Given the description of an element on the screen output the (x, y) to click on. 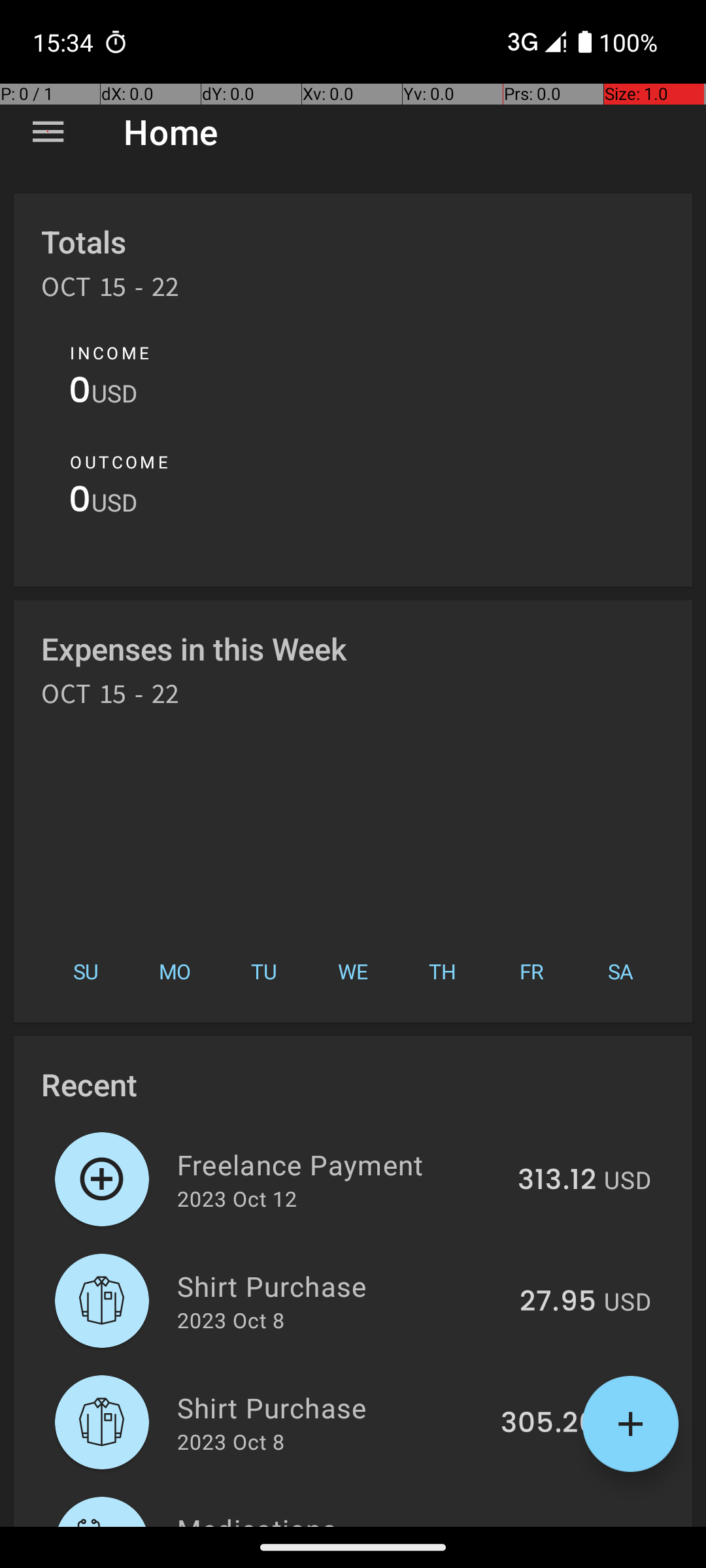
Freelance Payment Element type: android.widget.TextView (339, 1164)
2023 Oct 12 Element type: android.widget.TextView (236, 1198)
313.12 Element type: android.widget.TextView (556, 1180)
Shirt Purchase Element type: android.widget.TextView (340, 1285)
2023 Oct 8 Element type: android.widget.TextView (230, 1320)
27.95 Element type: android.widget.TextView (557, 1301)
305.26 Element type: android.widget.TextView (548, 1423)
Medications Element type: android.widget.TextView (336, 1518)
221.47 Element type: android.widget.TextView (553, 1524)
